Given the description of an element on the screen output the (x, y) to click on. 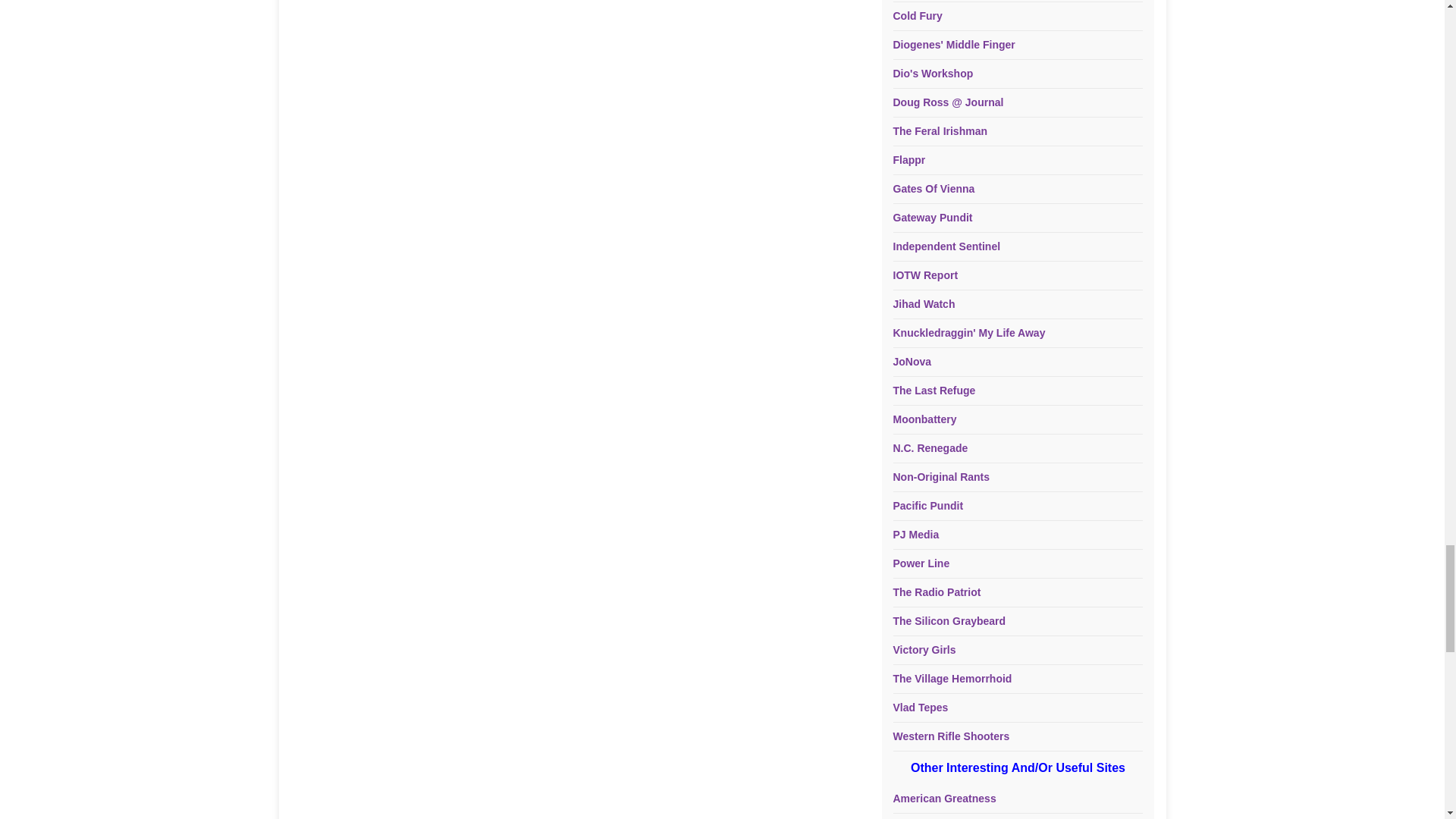
Diogenes' Middle Finger (953, 44)
Dio's Workshop (933, 73)
Cold Fury (917, 15)
